Given the description of an element on the screen output the (x, y) to click on. 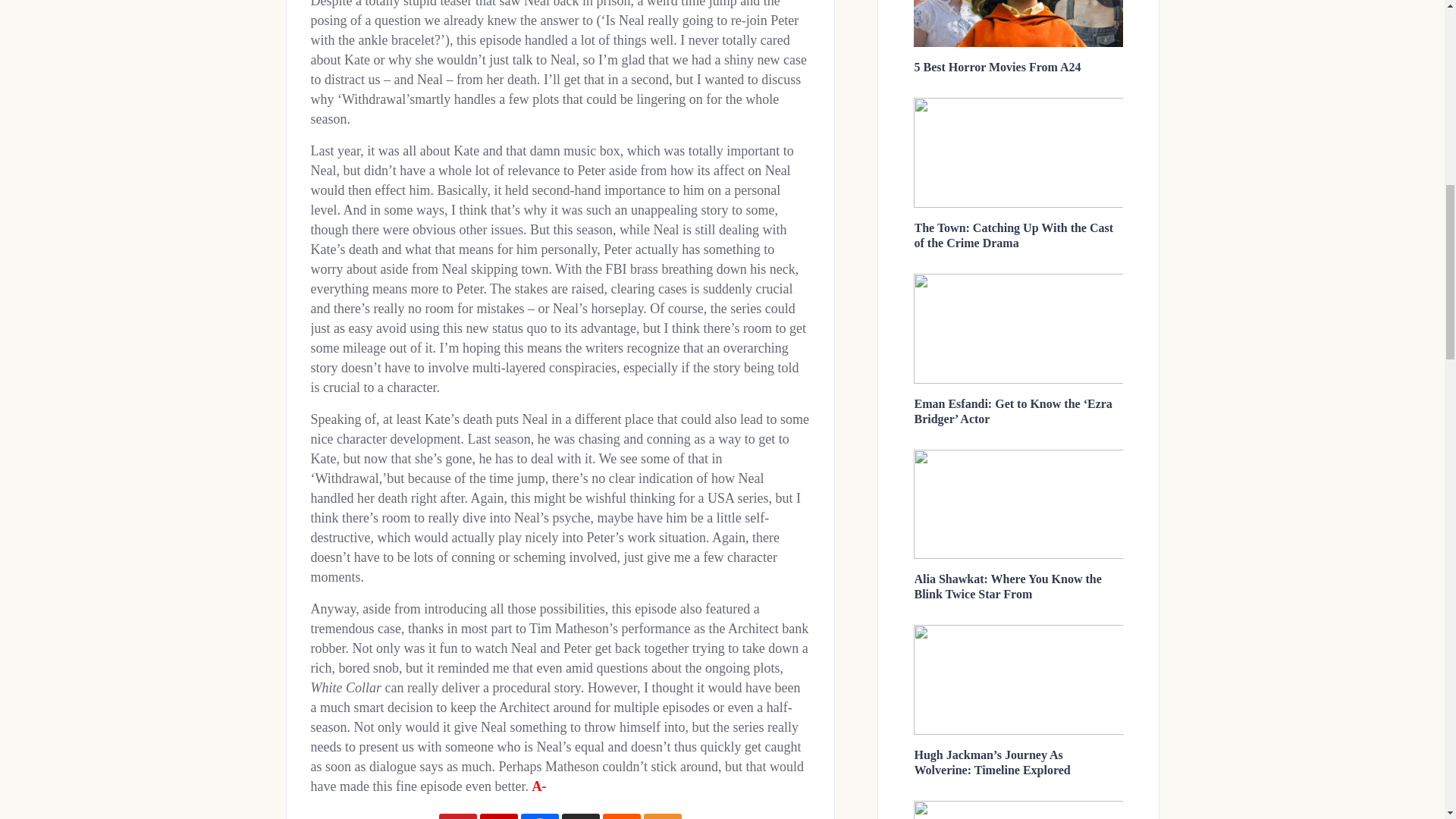
5 Best Horror Movies From A24 (997, 66)
Reddit (621, 816)
X (579, 816)
More (662, 816)
Flipboard (497, 816)
Facebook (538, 816)
Pinterest (457, 816)
